Given the description of an element on the screen output the (x, y) to click on. 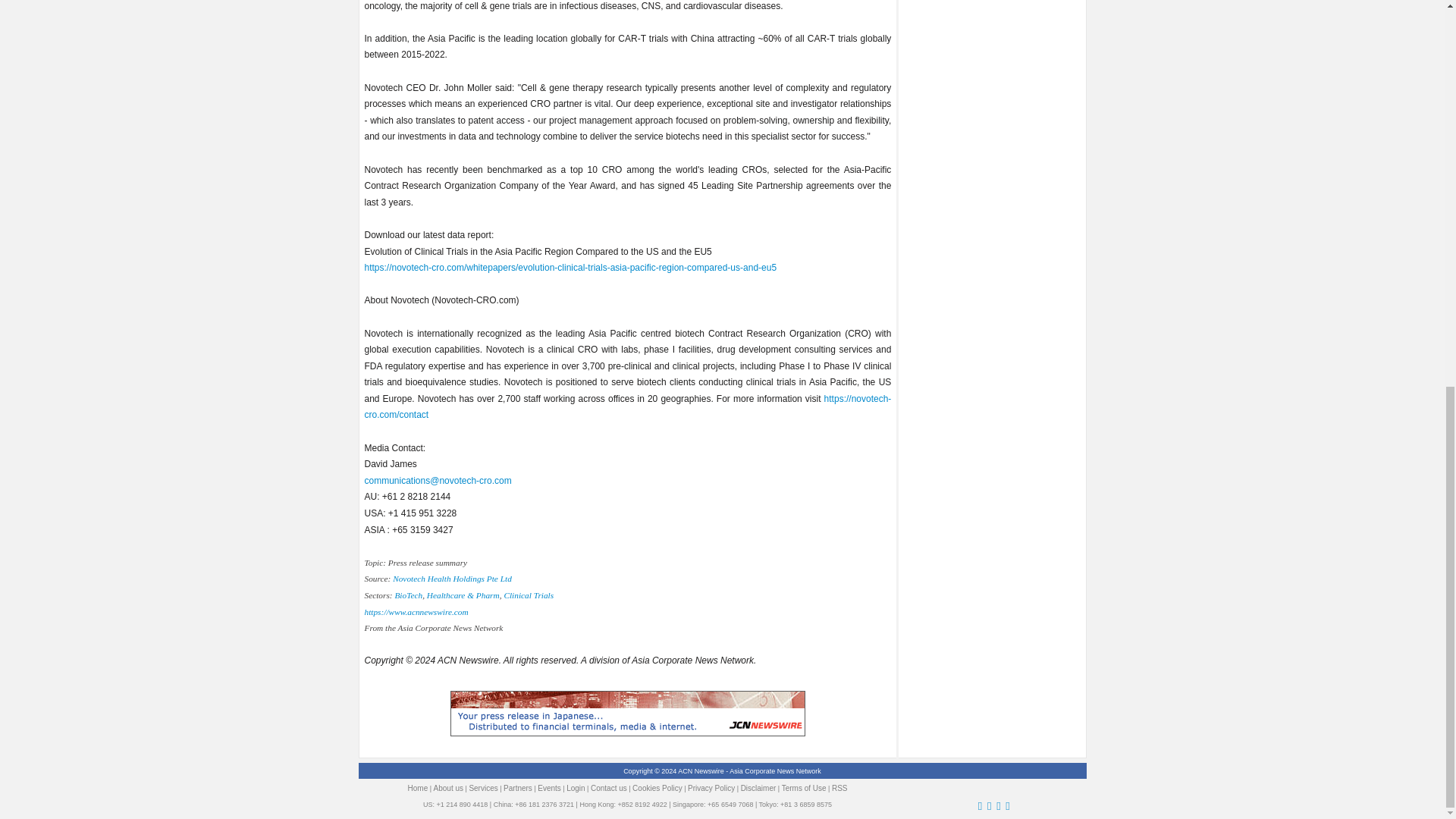
About us (448, 787)
Home (417, 787)
Contact us (609, 787)
Partners (517, 787)
Login (575, 787)
Services (482, 787)
Novotech Health Holdings Pte Ltd (452, 578)
BioTech (408, 594)
Clinical Trials (528, 594)
Events (548, 787)
